Given the description of an element on the screen output the (x, y) to click on. 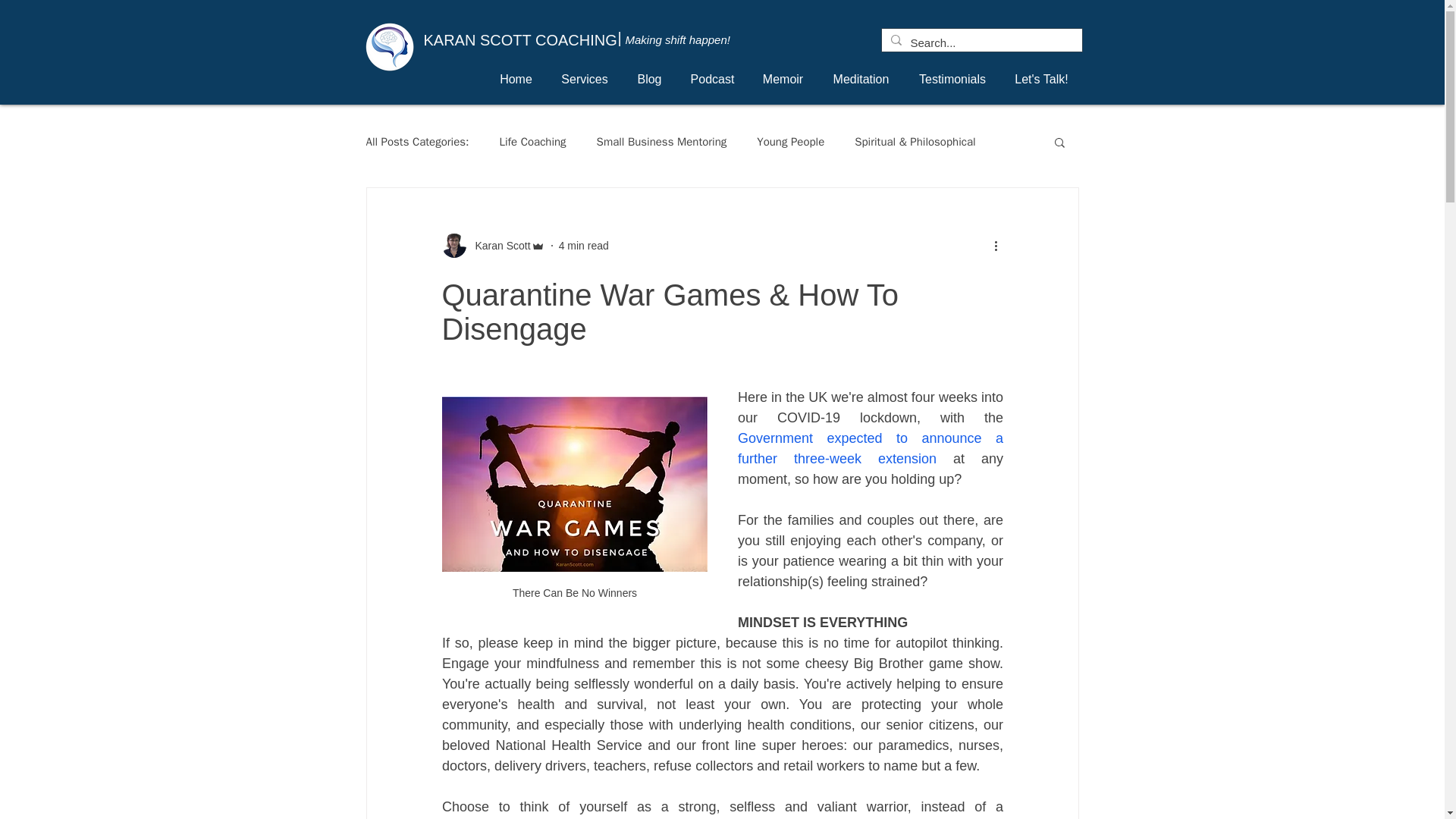
Small Business Mentoring (661, 142)
Memoir (782, 79)
Let's Talk! (1042, 79)
Testimonials (952, 79)
Meditation (860, 79)
Blog (649, 79)
Karan Scott (497, 245)
Home (515, 79)
Life Coaching (532, 142)
All Posts Categories: (416, 142)
Young People (790, 142)
4 min read (583, 245)
Podcast (712, 79)
Services (585, 79)
